Given the description of an element on the screen output the (x, y) to click on. 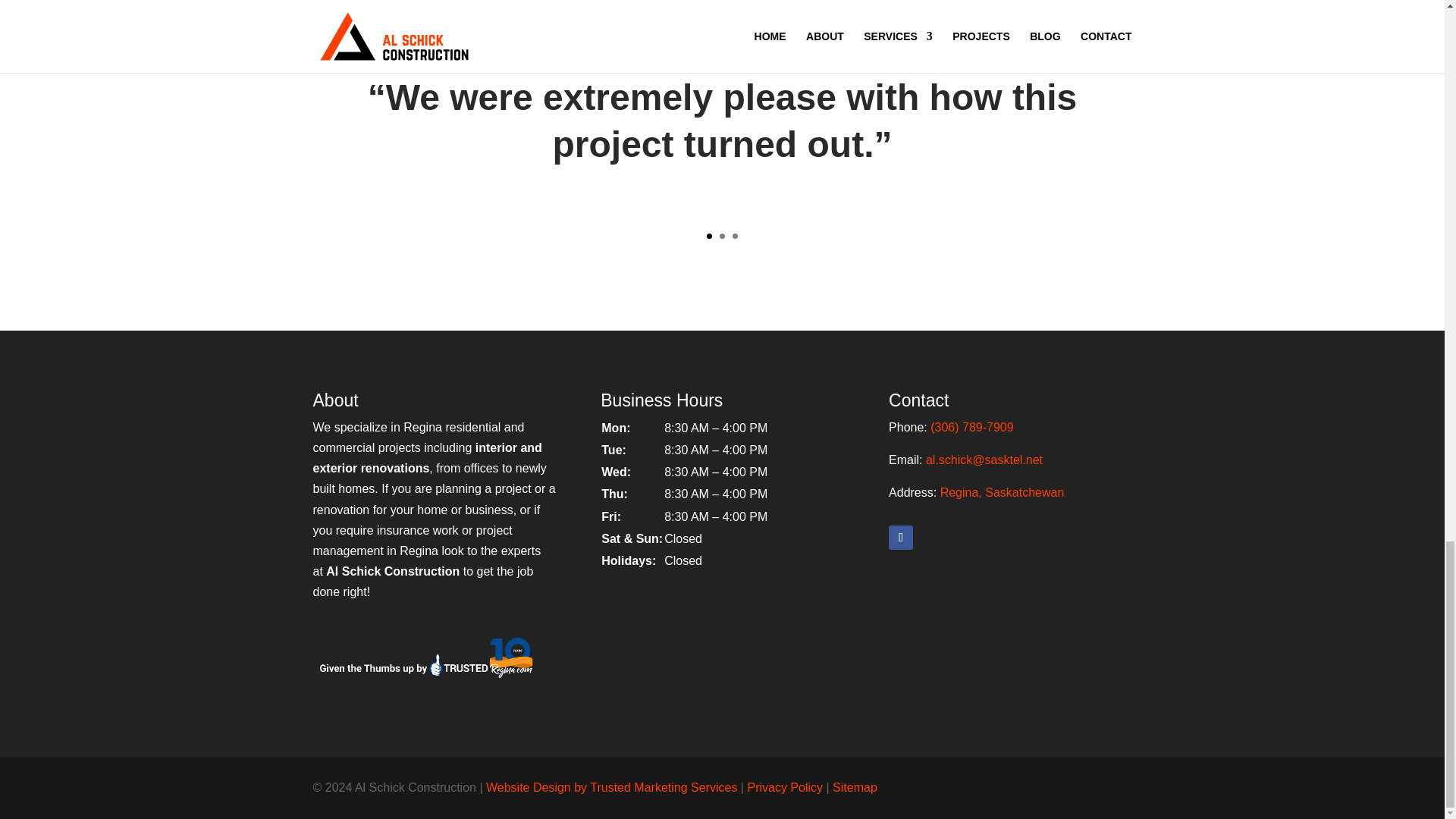
Follow on Facebook (900, 537)
